Given the description of an element on the screen output the (x, y) to click on. 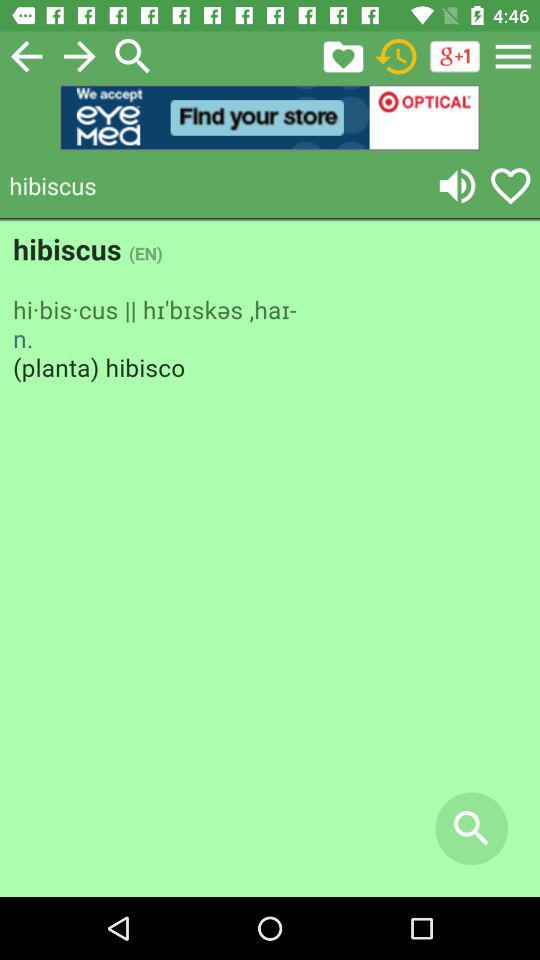
next button (79, 56)
